Given the description of an element on the screen output the (x, y) to click on. 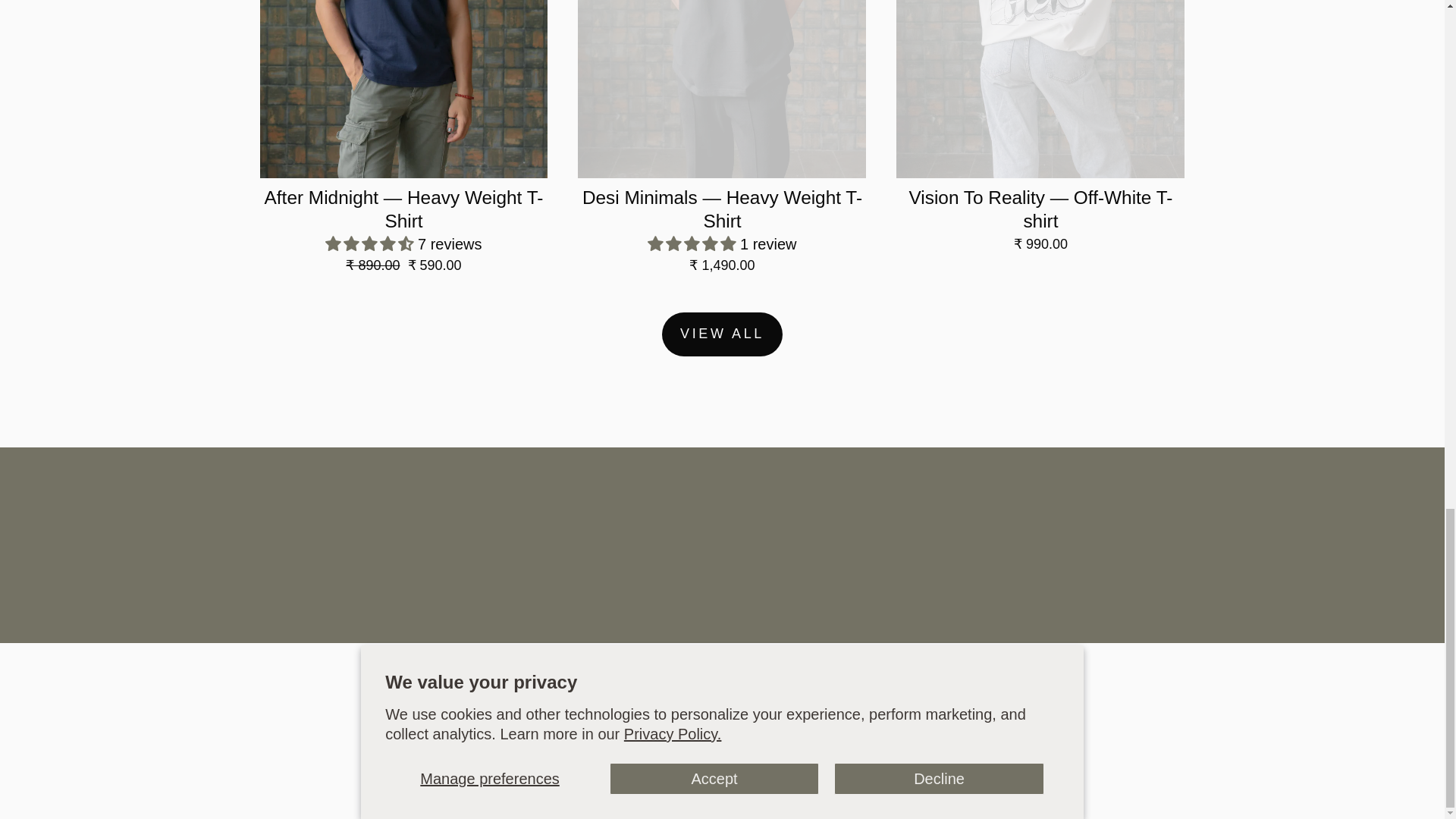
Desi Minimals on YouTube (821, 728)
Desi Minimals on LinkedIn (772, 728)
twitter (721, 728)
Desi Minimals on Facebook (671, 728)
Desi Minimals on Twitter (721, 728)
instagram (621, 728)
Desi Minimals on Instagram (621, 728)
